Given the description of an element on the screen output the (x, y) to click on. 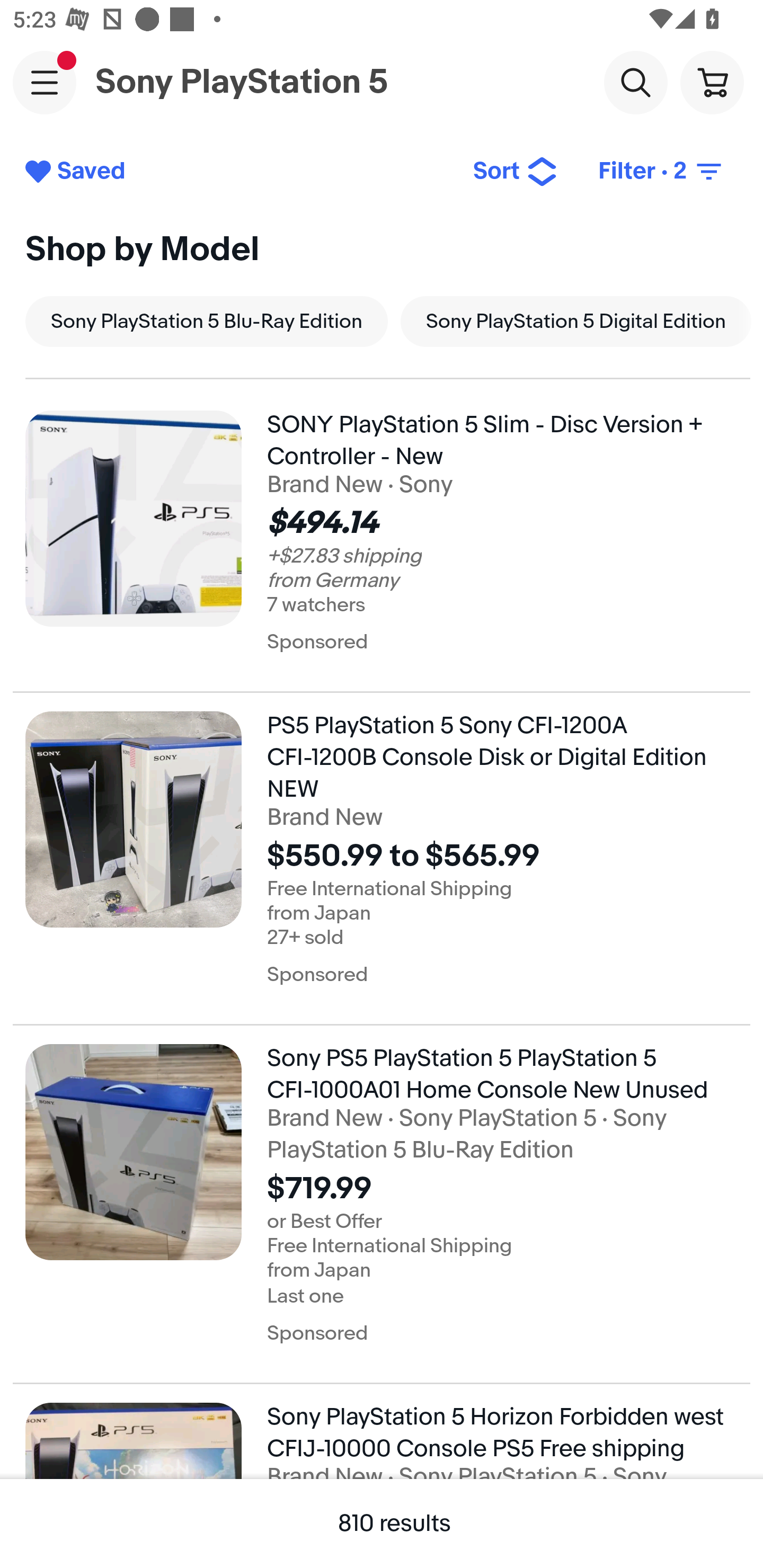
Main navigation, open (44, 82)
Search (635, 81)
Cart button shopping cart (711, 81)
Saved (235, 171)
Sort (515, 171)
Filter • 2 Filter (2 applied) (661, 171)
